Given the description of an element on the screen output the (x, y) to click on. 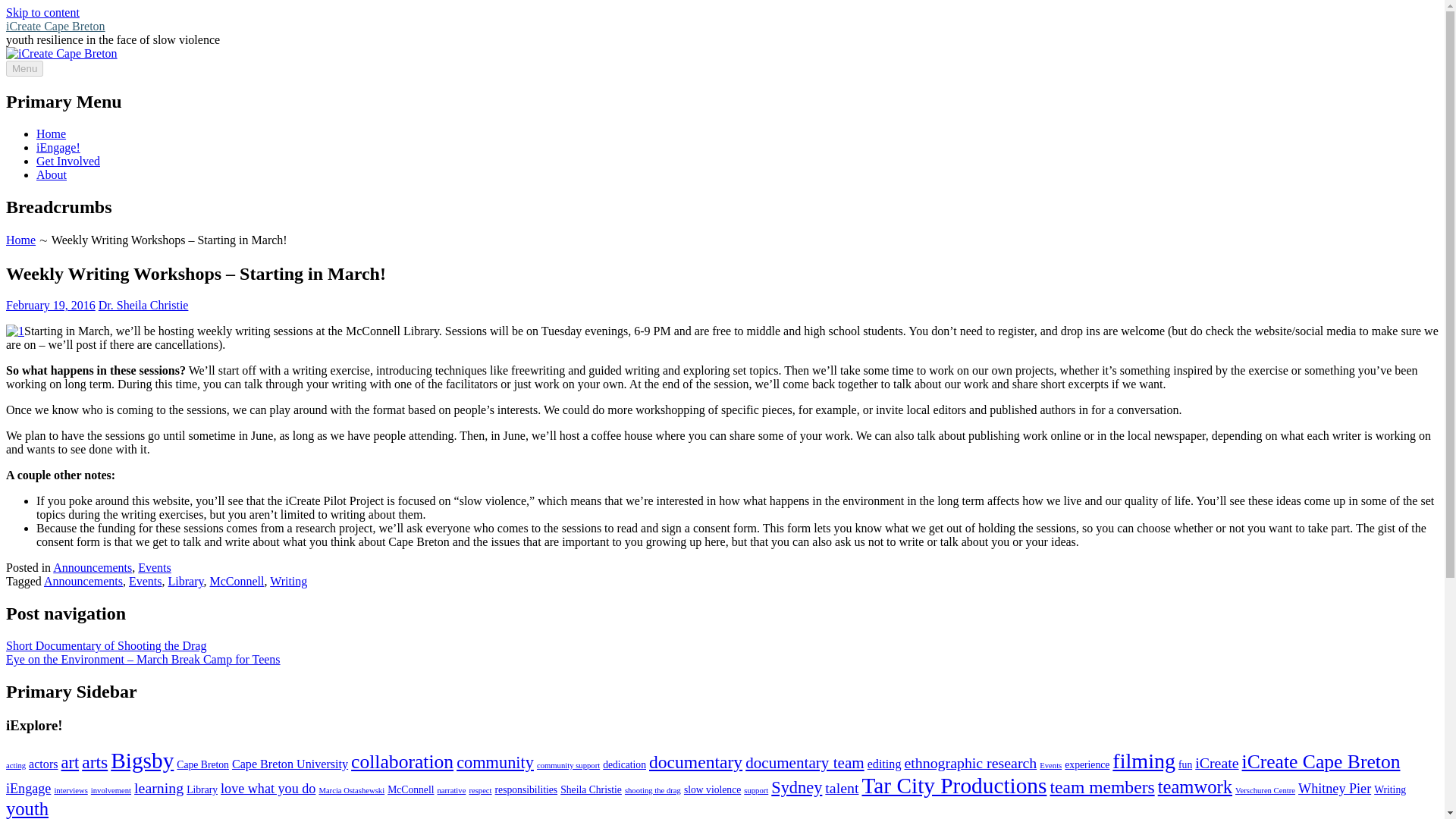
Home (50, 133)
actors (43, 763)
iCreate Cape Breton (19, 239)
experience (1086, 764)
iCreate Cape Breton (54, 25)
Events (154, 567)
Home (19, 239)
Cape Breton University (289, 763)
editing (884, 763)
documentary team (804, 762)
